Given the description of an element on the screen output the (x, y) to click on. 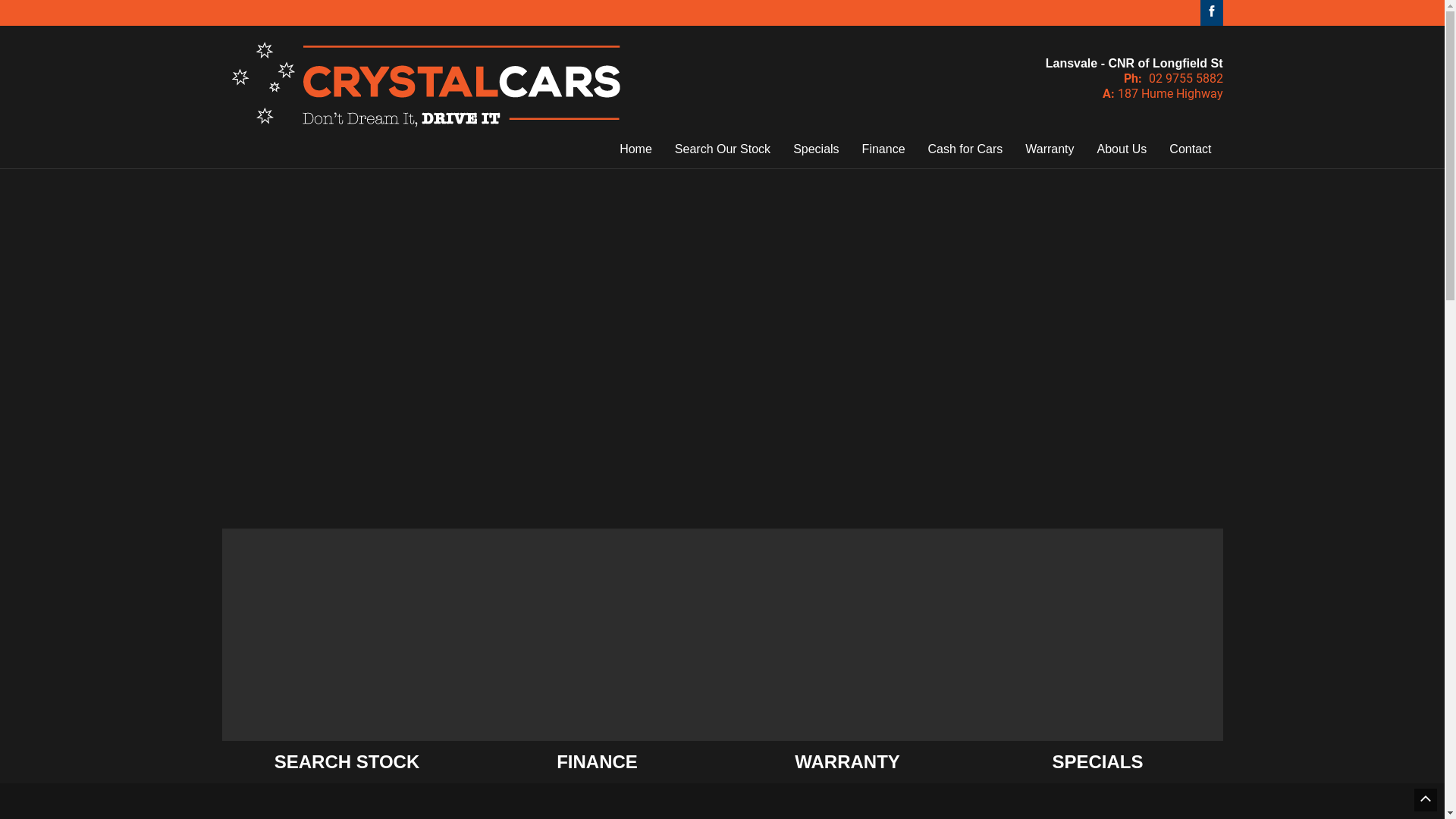
Home Element type: text (635, 149)
Search Our Stock Element type: text (722, 149)
02 9755 5882 Element type: text (1185, 78)
Cash for Cars Element type: text (965, 149)
Warranty Element type: text (1049, 149)
Contact Element type: text (1189, 149)
Specials Element type: text (815, 149)
Finance Element type: text (883, 149)
About Us Element type: text (1121, 149)
